Given the description of an element on the screen output the (x, y) to click on. 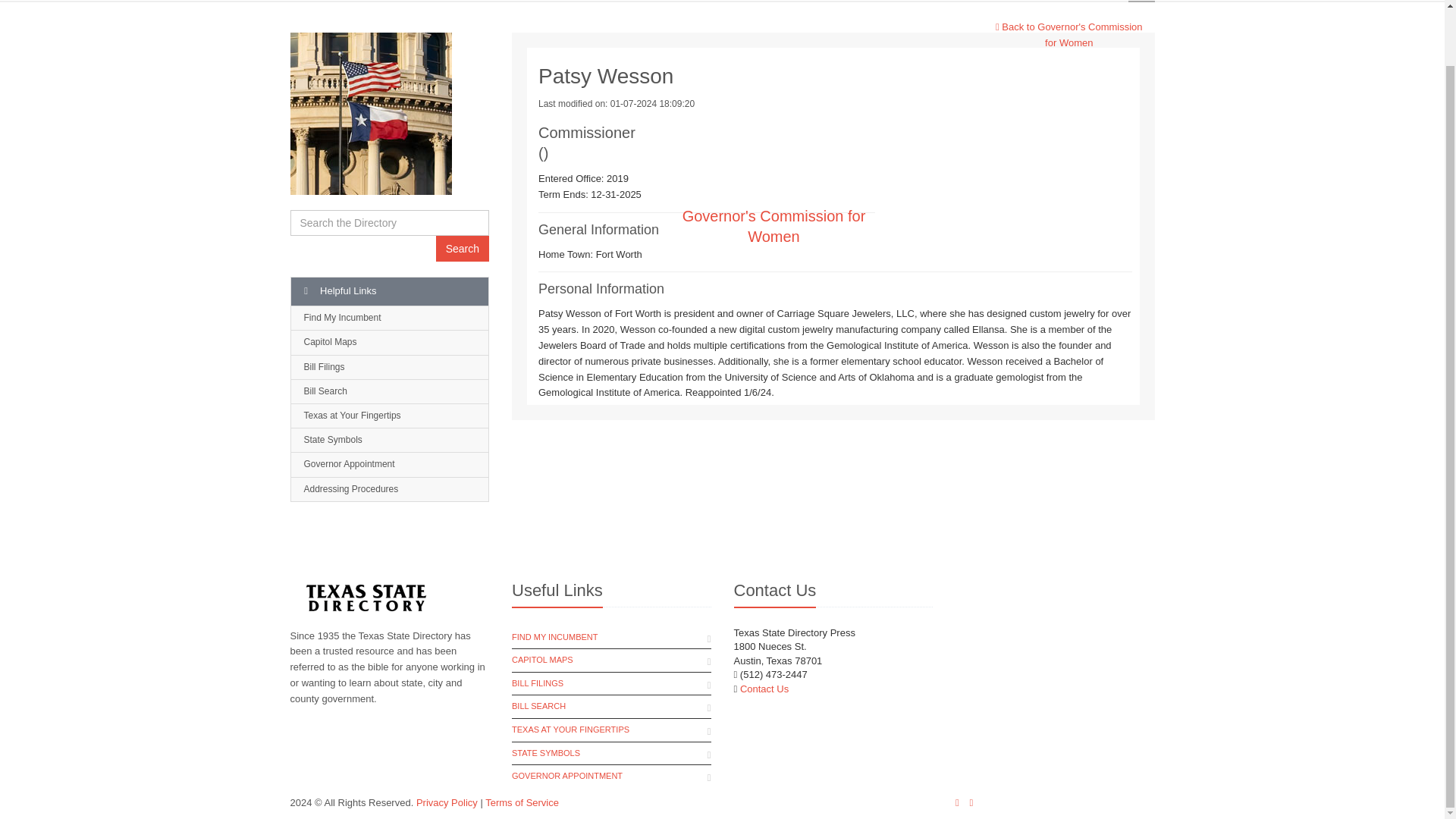
HOME (673, 1)
DIRECTORY (761, 1)
